Given the description of an element on the screen output the (x, y) to click on. 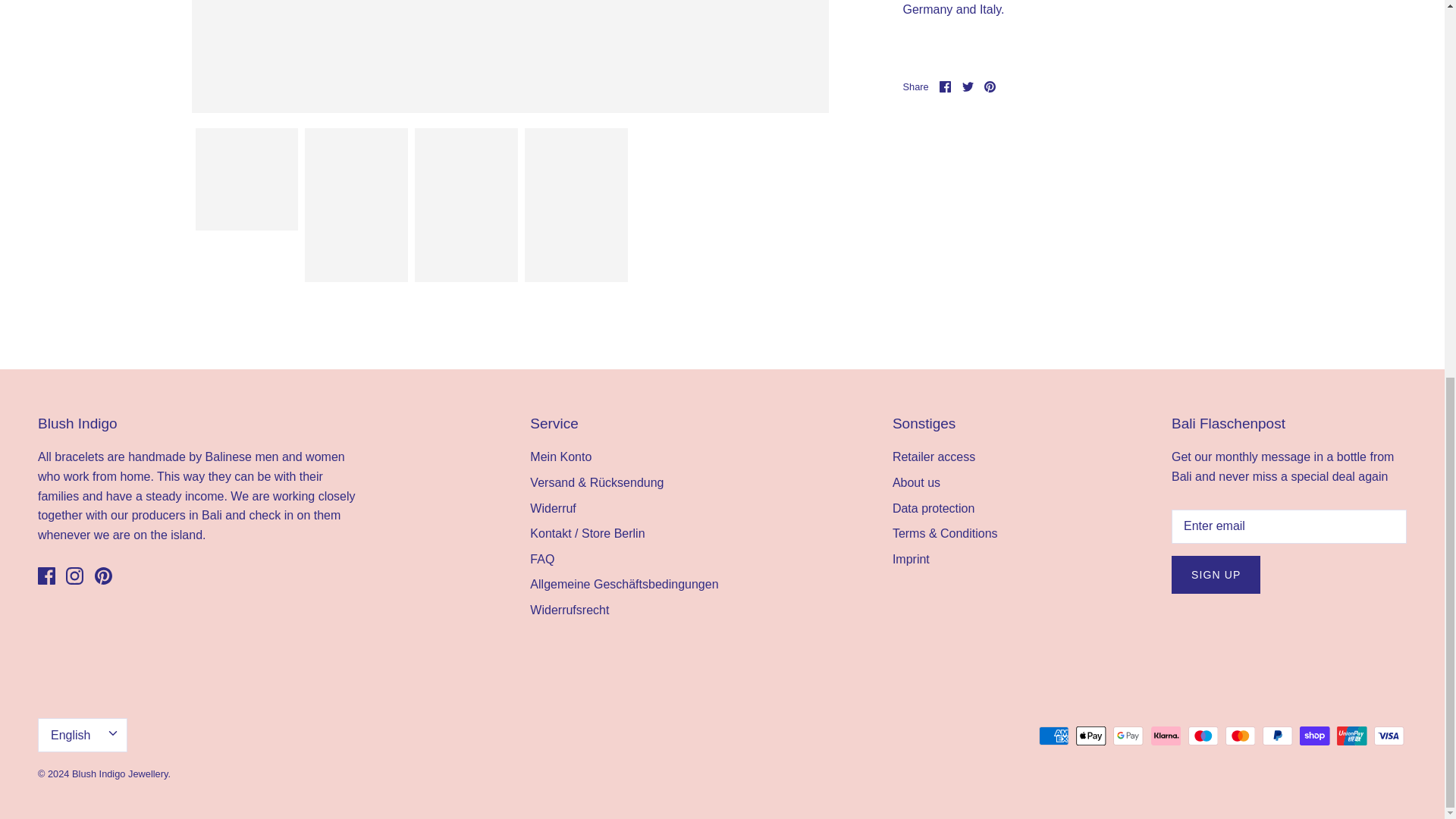
Facebook (944, 86)
Facebook (46, 575)
Shop Pay (1314, 735)
Union Pay (944, 86)
Instagram (1351, 735)
Pinterest (968, 86)
Facebook (73, 575)
Pinterest (103, 575)
American Express (46, 575)
Google Pay (989, 86)
PayPal (1053, 735)
Mastercard (989, 86)
